Given the description of an element on the screen output the (x, y) to click on. 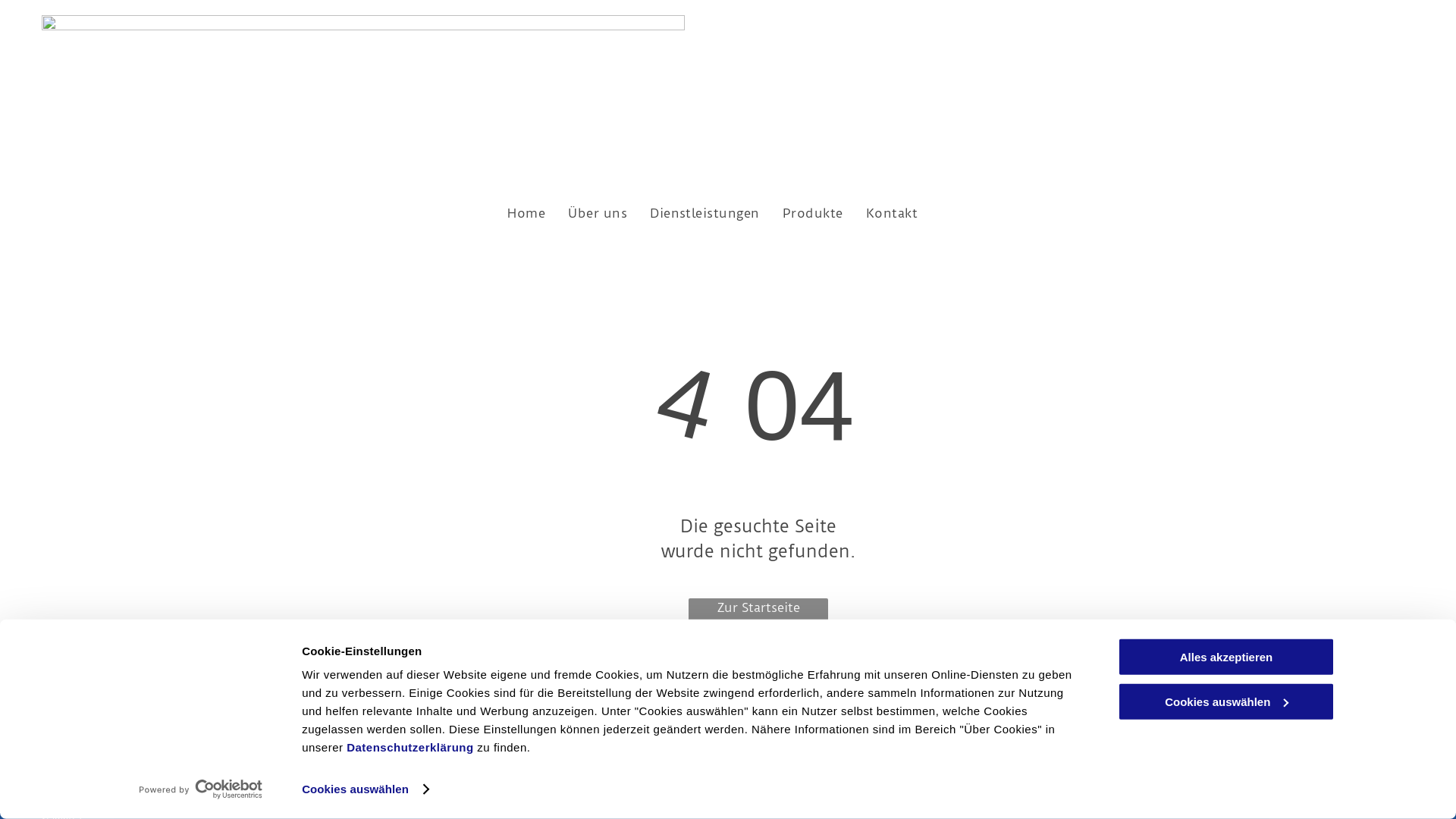
Kontakt Element type: text (891, 212)
Produkte Element type: text (812, 212)
Dienstleistungen Element type: text (704, 212)
Zur Startseite Element type: text (758, 612)
Alles akzeptieren Element type: text (1225, 656)
Home Element type: text (526, 212)
